Given the description of an element on the screen output the (x, y) to click on. 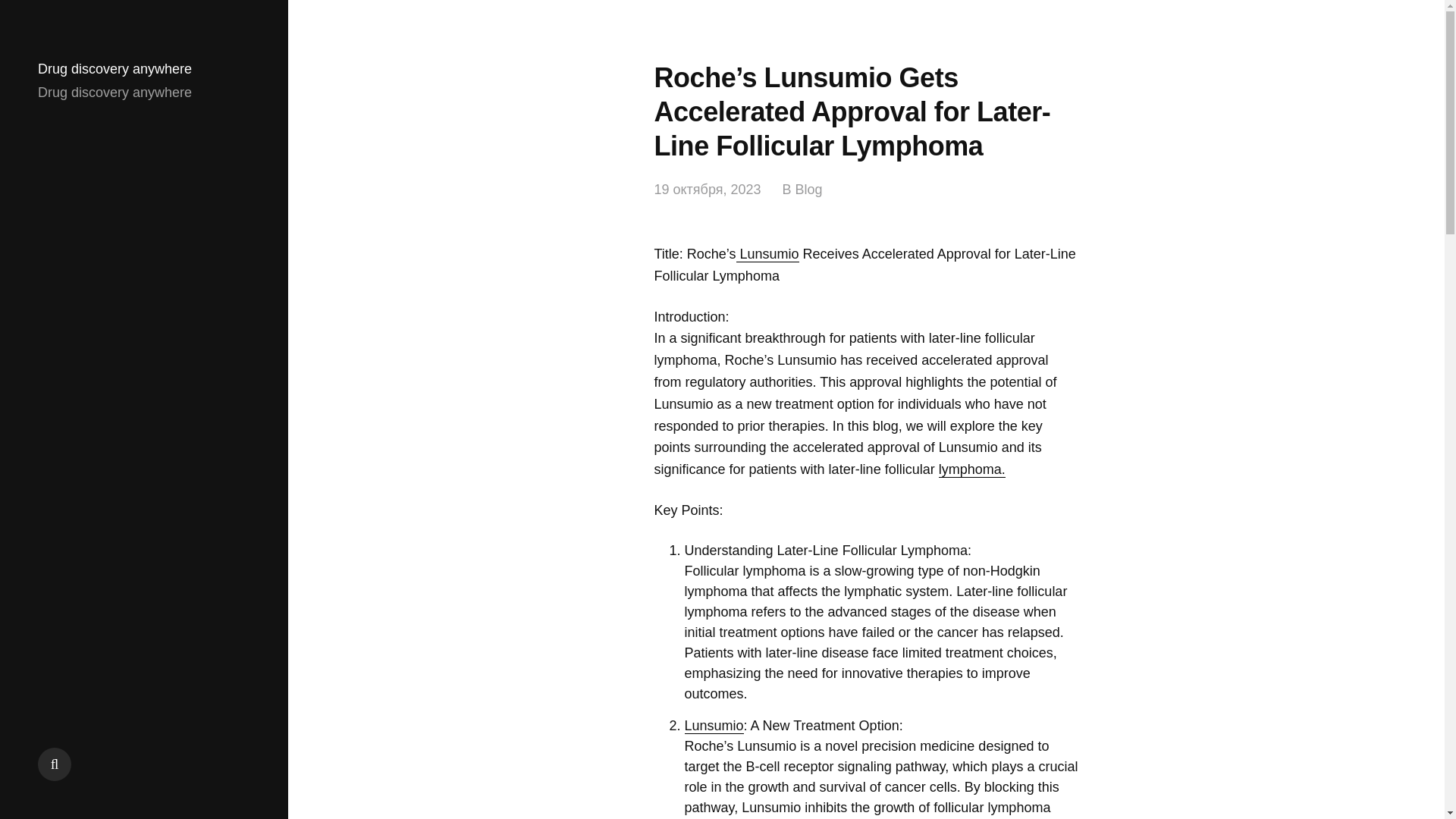
Lunsumio (767, 254)
lymphoma. (972, 469)
Lunsumio (713, 725)
Drug discovery anywhere (114, 68)
Blog (808, 189)
